Given the description of an element on the screen output the (x, y) to click on. 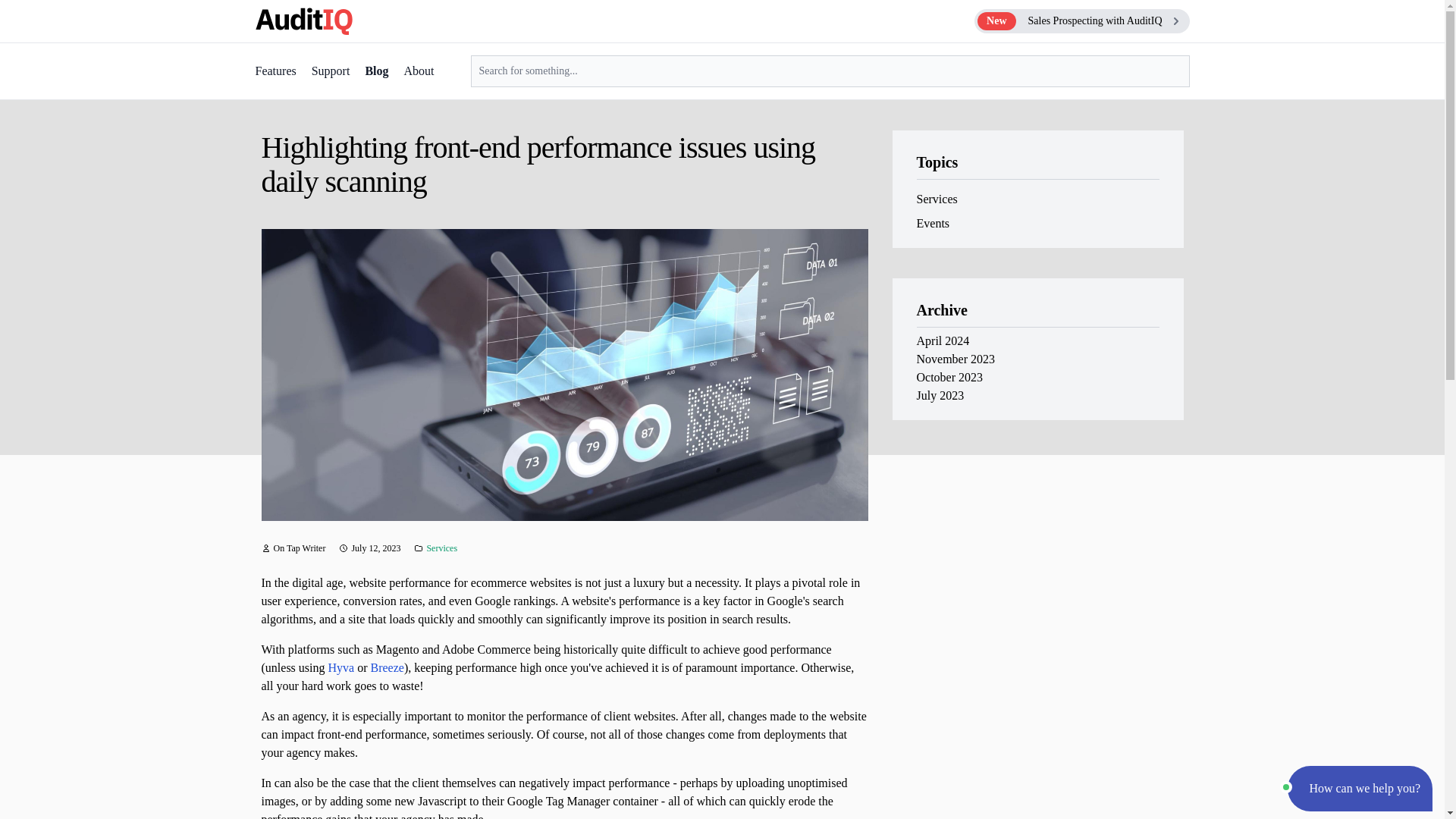
April 2024 (942, 340)
Archive July 2023 (939, 395)
Support (330, 70)
On Tap Writer (298, 548)
On Tap Writer (298, 548)
Archive November 2023 (954, 358)
Services (441, 548)
Features (274, 70)
Hyva (340, 667)
Archive April 2024 (942, 340)
Services (935, 198)
July 2023 (939, 395)
Services (441, 548)
November 2023 (1081, 21)
